Given the description of an element on the screen output the (x, y) to click on. 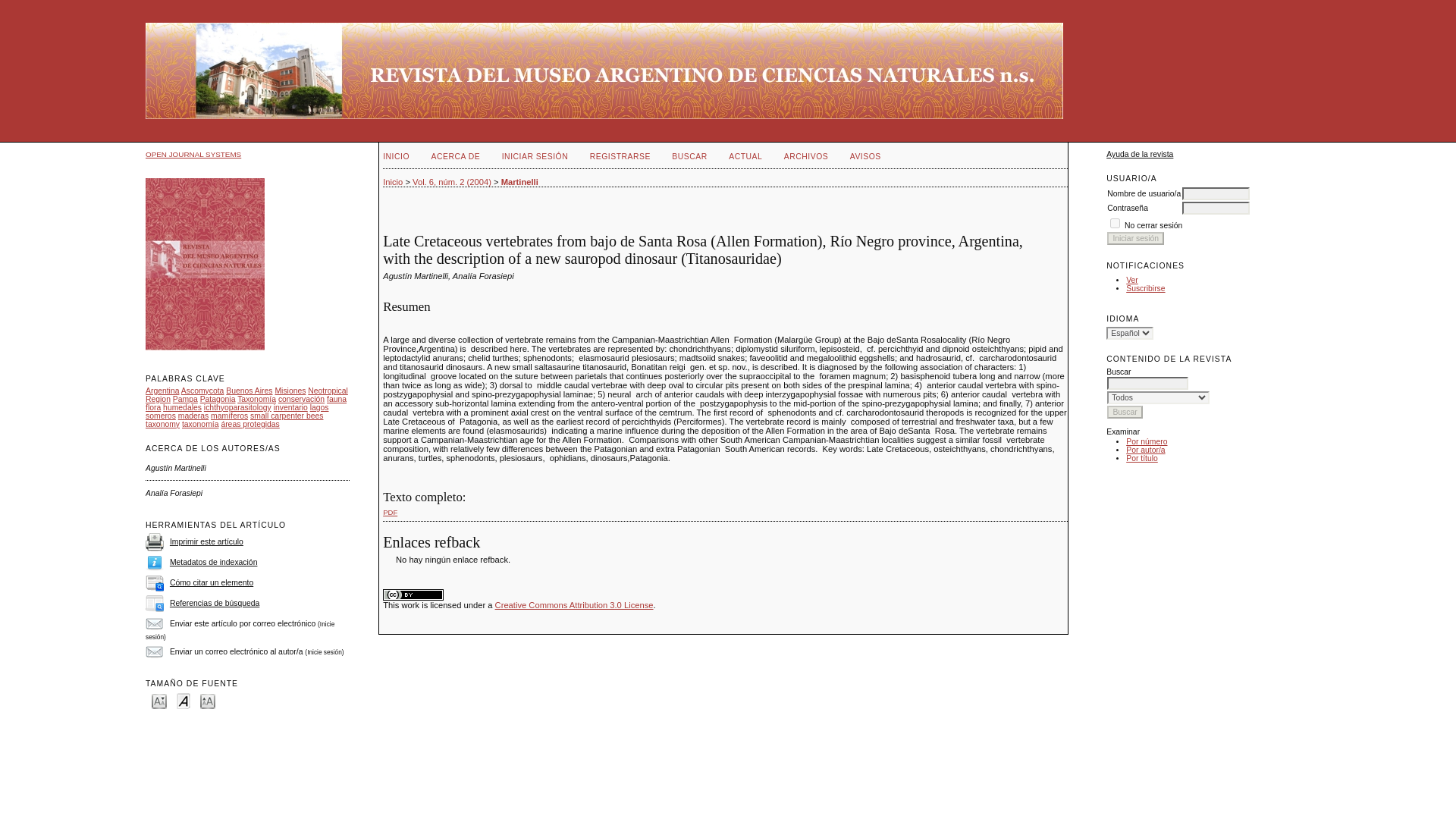
Buscar (1124, 411)
inventario (290, 407)
Patagonia (217, 398)
Ayuda de la revista (1139, 153)
Misiones (290, 390)
Neotropical Region (246, 394)
small carpenter bees (286, 415)
maderas (192, 415)
Ver (1131, 280)
INICIO (395, 156)
Argentina (162, 390)
Pampa (185, 398)
flora (152, 407)
Ascomycota (202, 390)
Buscar (1124, 411)
